Given the description of an element on the screen output the (x, y) to click on. 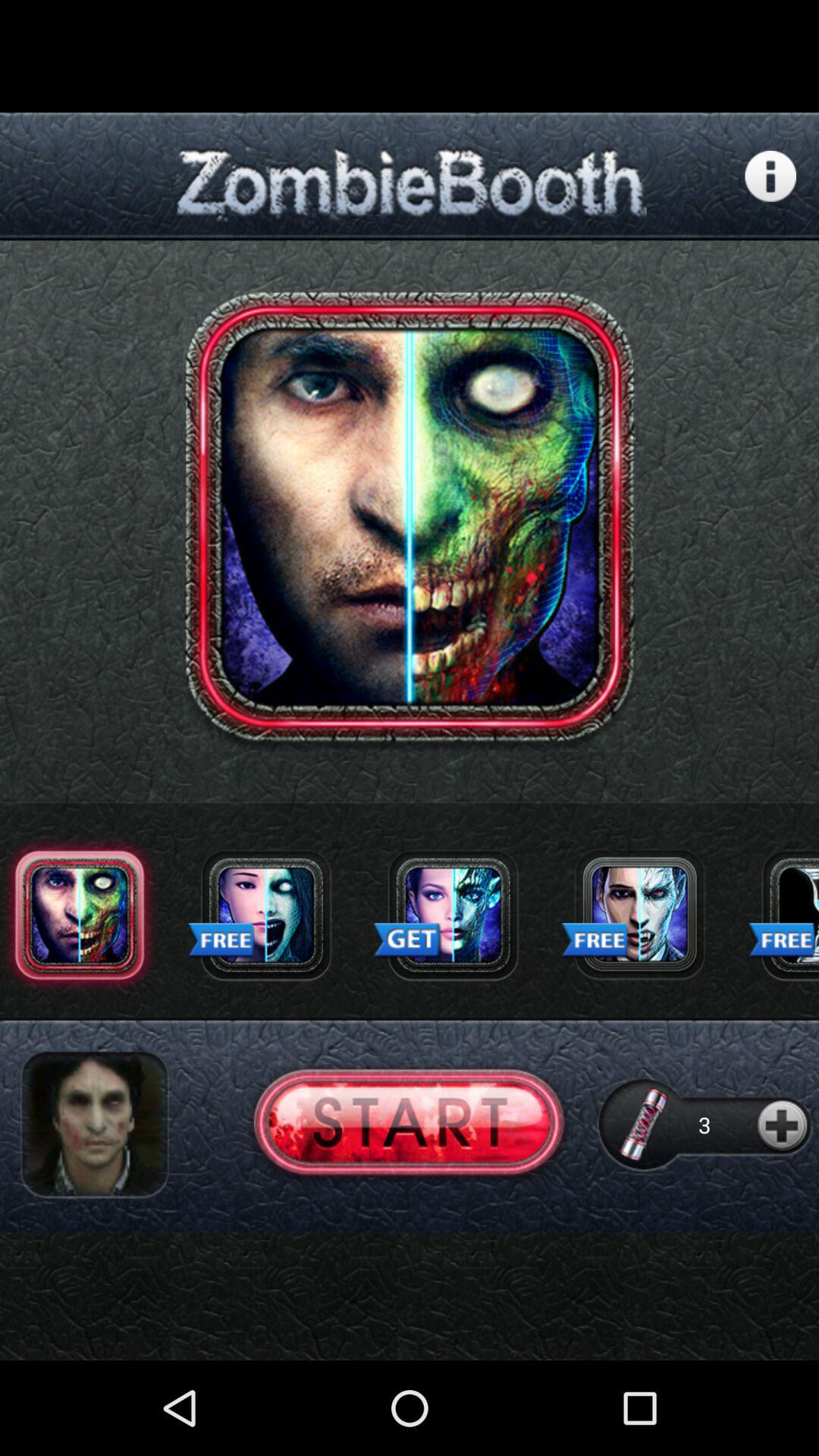
get (452, 914)
